Given the description of an element on the screen output the (x, y) to click on. 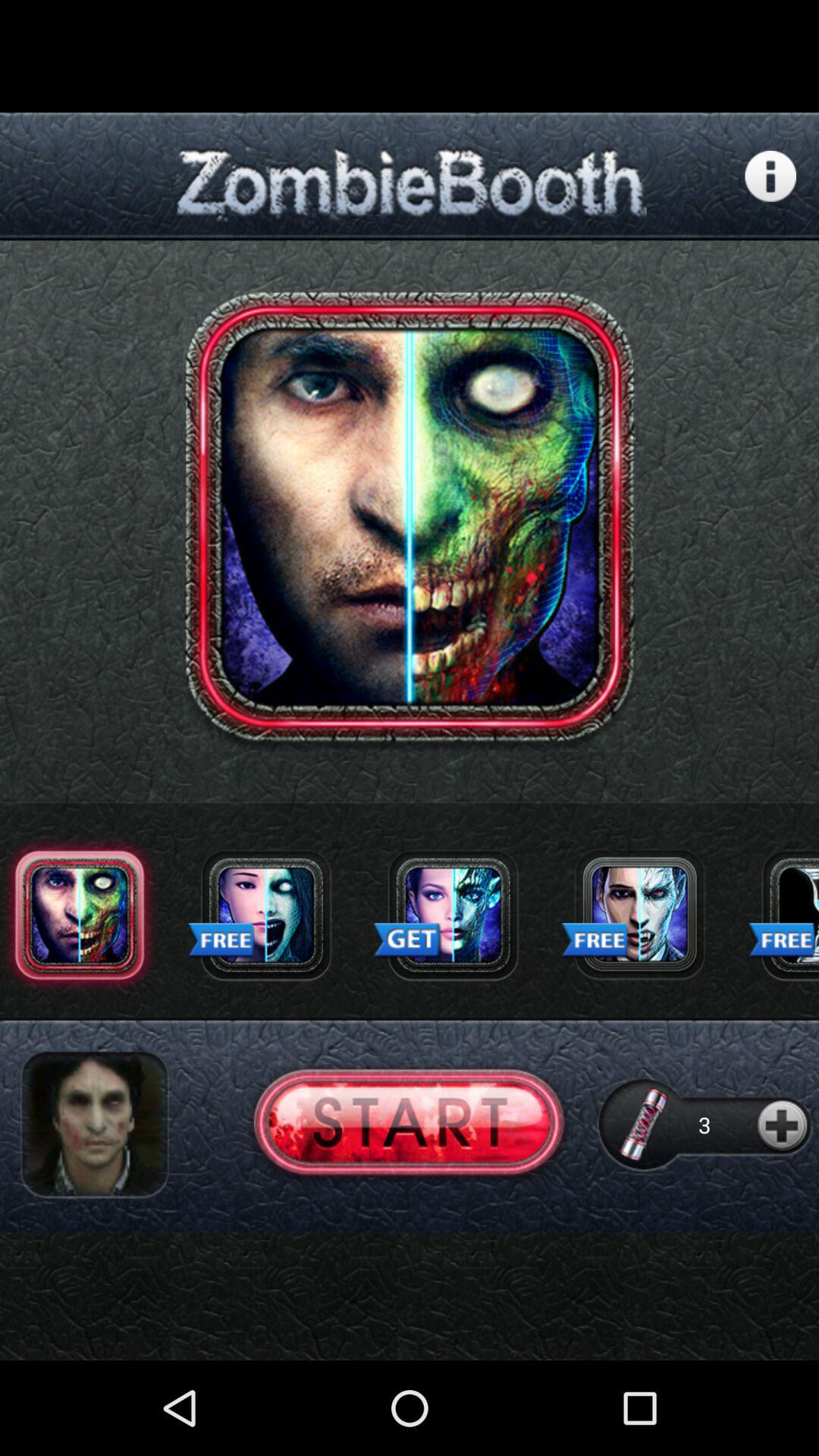
get (452, 914)
